Given the description of an element on the screen output the (x, y) to click on. 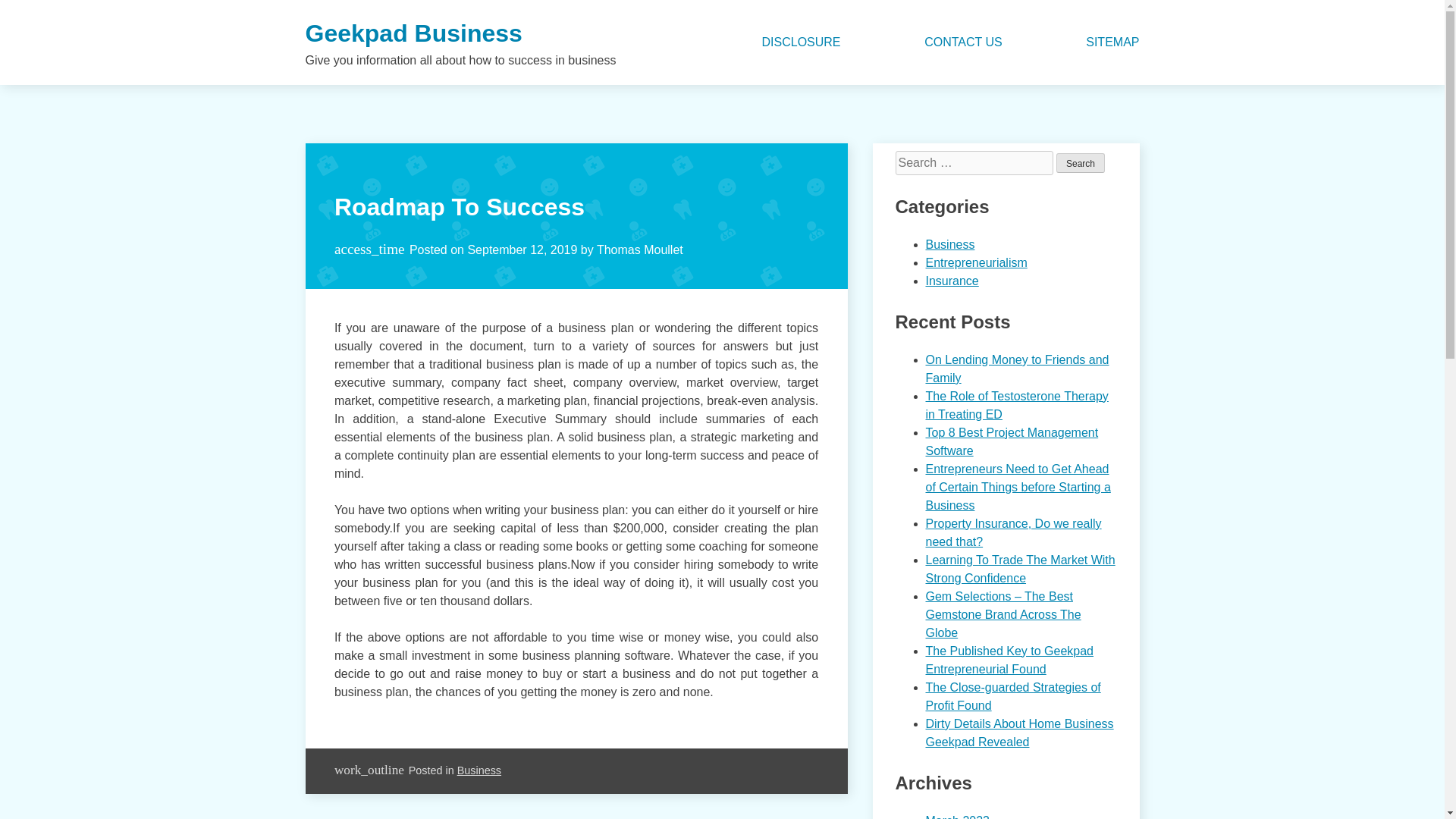
Entrepreneurialism (975, 262)
Search (1081, 162)
Search (1081, 162)
Business (478, 770)
Insurance (951, 280)
DISCLOSURE (800, 42)
Learning To Trade The Market With Strong Confidence (1019, 568)
Business (949, 244)
September 12, 2019 (521, 249)
